Given the description of an element on the screen output the (x, y) to click on. 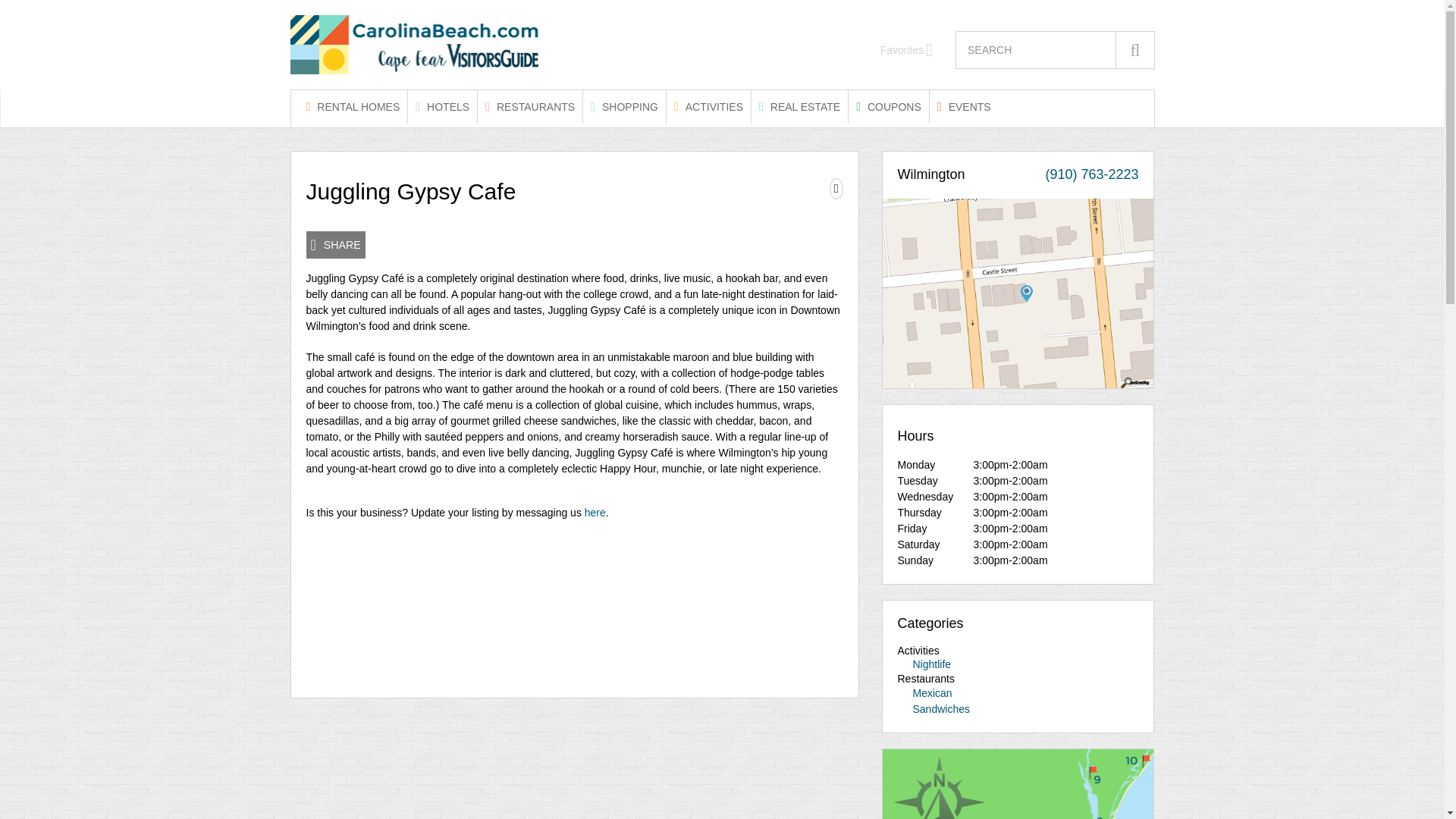
Mexican (932, 693)
SHARE (335, 244)
RENTAL HOMES (352, 106)
REAL ESTATE (799, 106)
Favorites (906, 49)
Sandwiches (941, 708)
EVENTS (964, 106)
SHOPPING (624, 106)
HOTELS (442, 106)
Advertisement (574, 603)
here (595, 512)
Nightlife (932, 664)
RESTAURANTS (529, 106)
COUPONS (888, 106)
ACTIVITIES (708, 106)
